Given the description of an element on the screen output the (x, y) to click on. 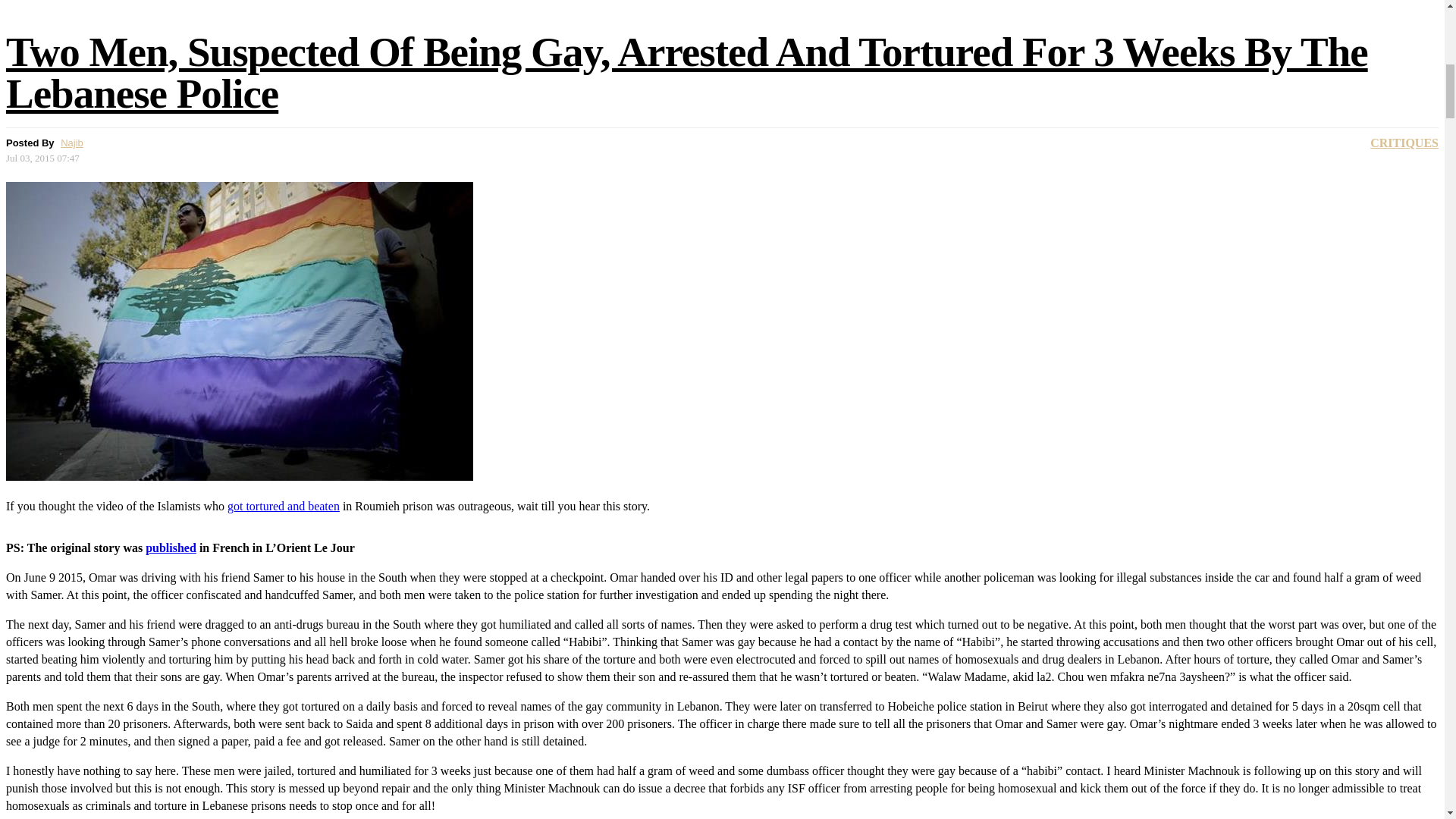
Advertisement (460, 6)
